Given the description of an element on the screen output the (x, y) to click on. 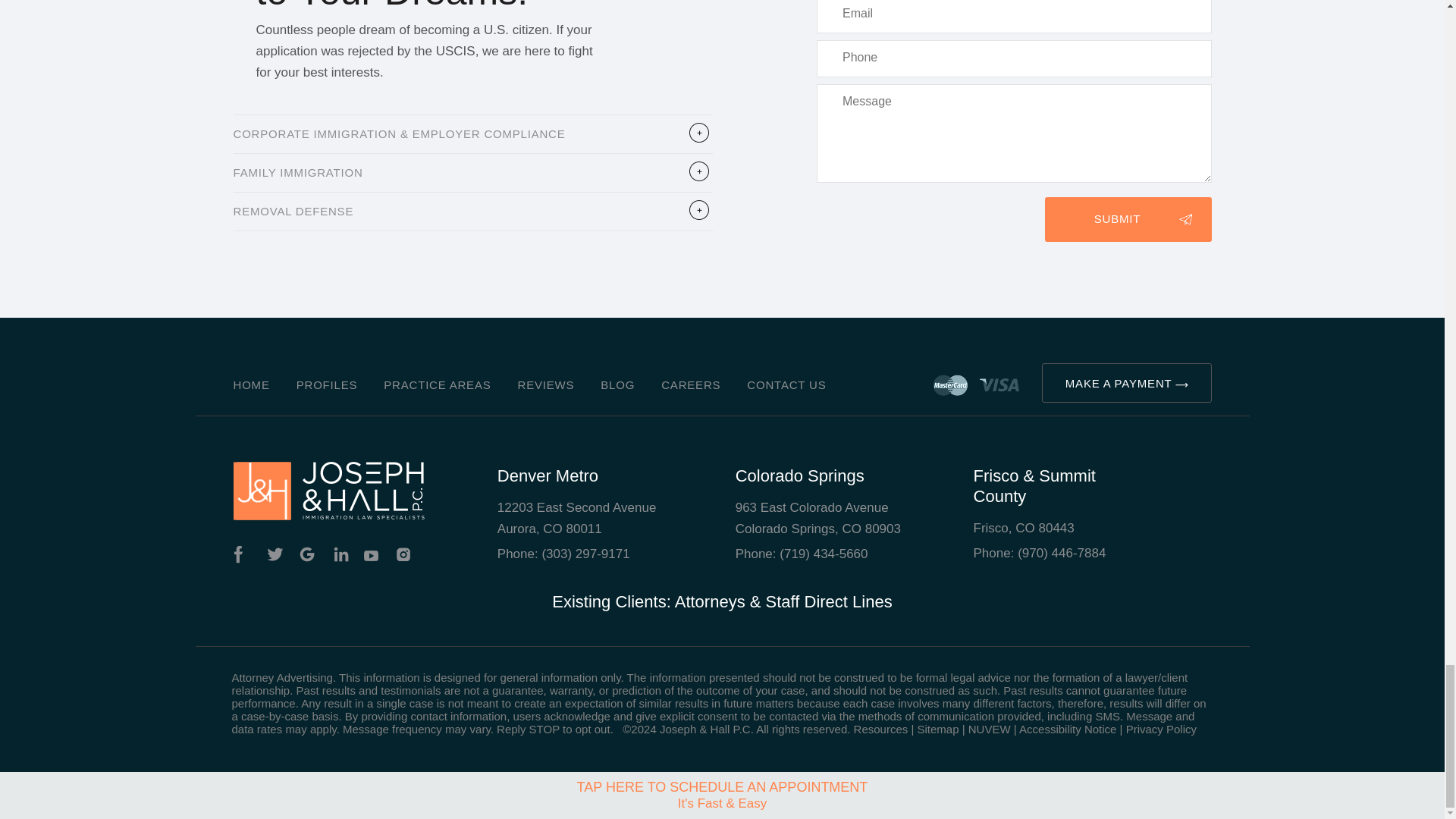
Submit (1128, 219)
